Given the description of an element on the screen output the (x, y) to click on. 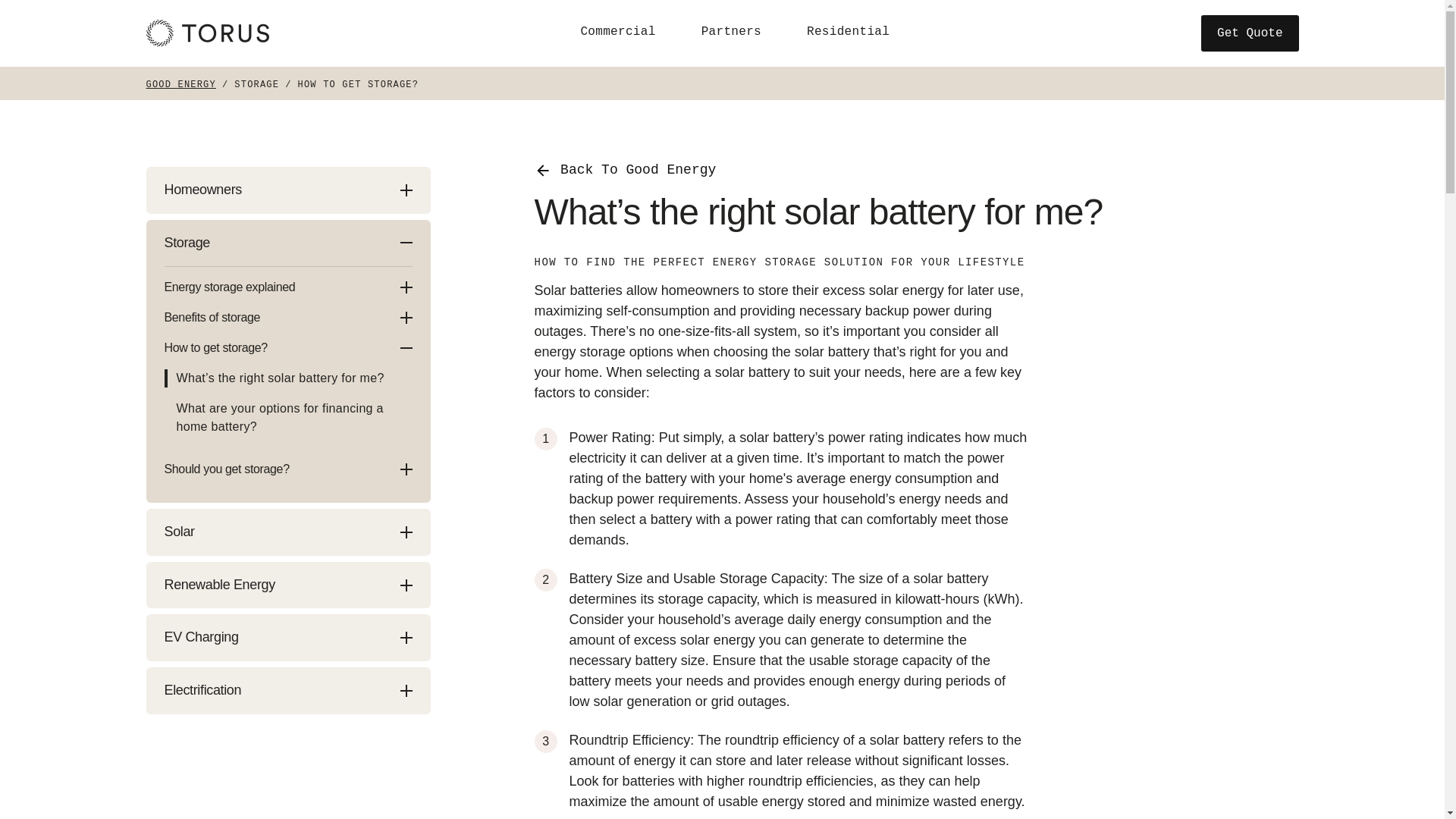
Get Quote (1249, 33)
Partners (731, 31)
Residential (847, 31)
Commercial (617, 31)
Torus Homepage (206, 32)
Get Quote (1249, 33)
